Given the description of an element on the screen output the (x, y) to click on. 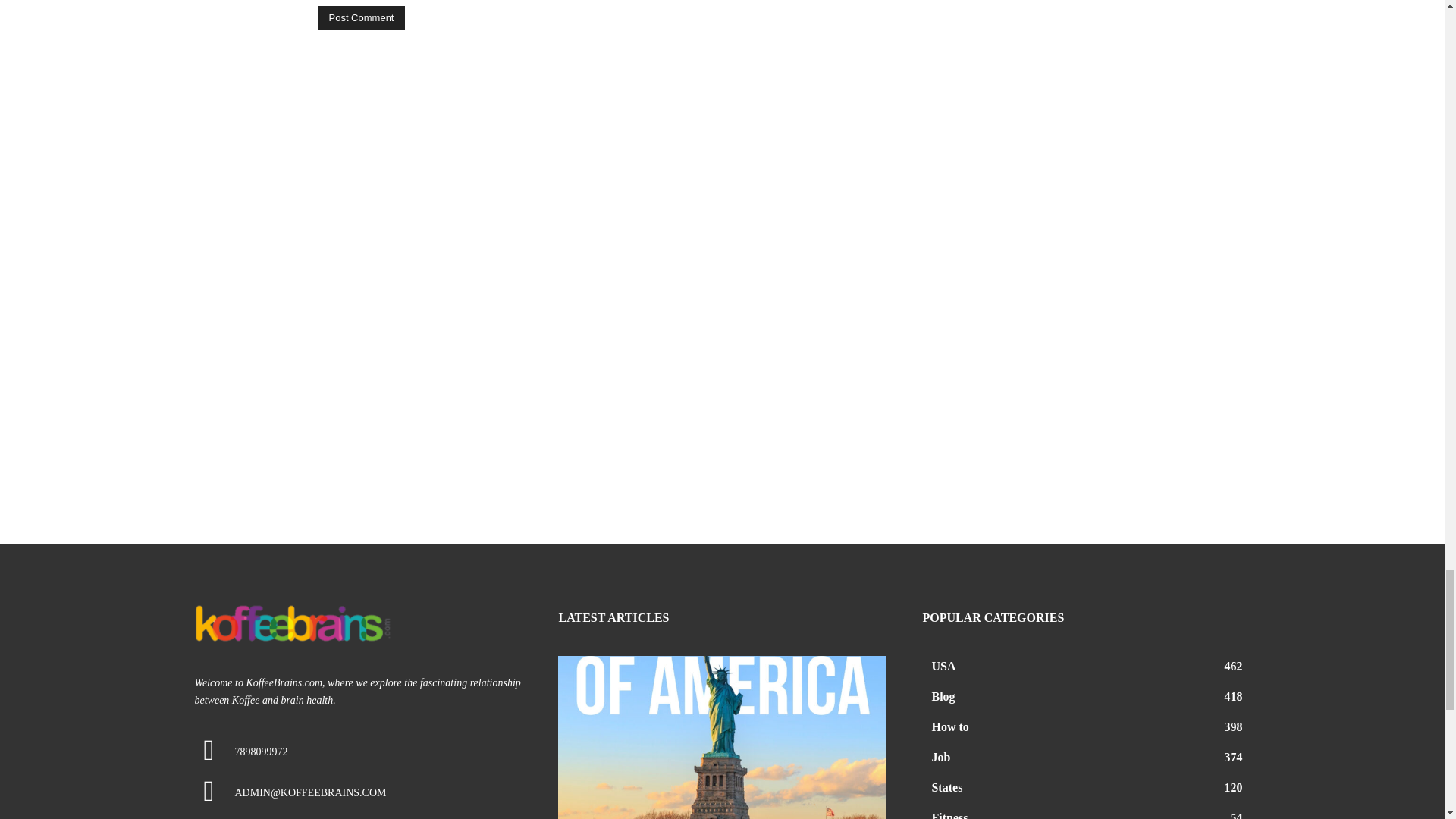
Post Comment (360, 17)
